Given the description of an element on the screen output the (x, y) to click on. 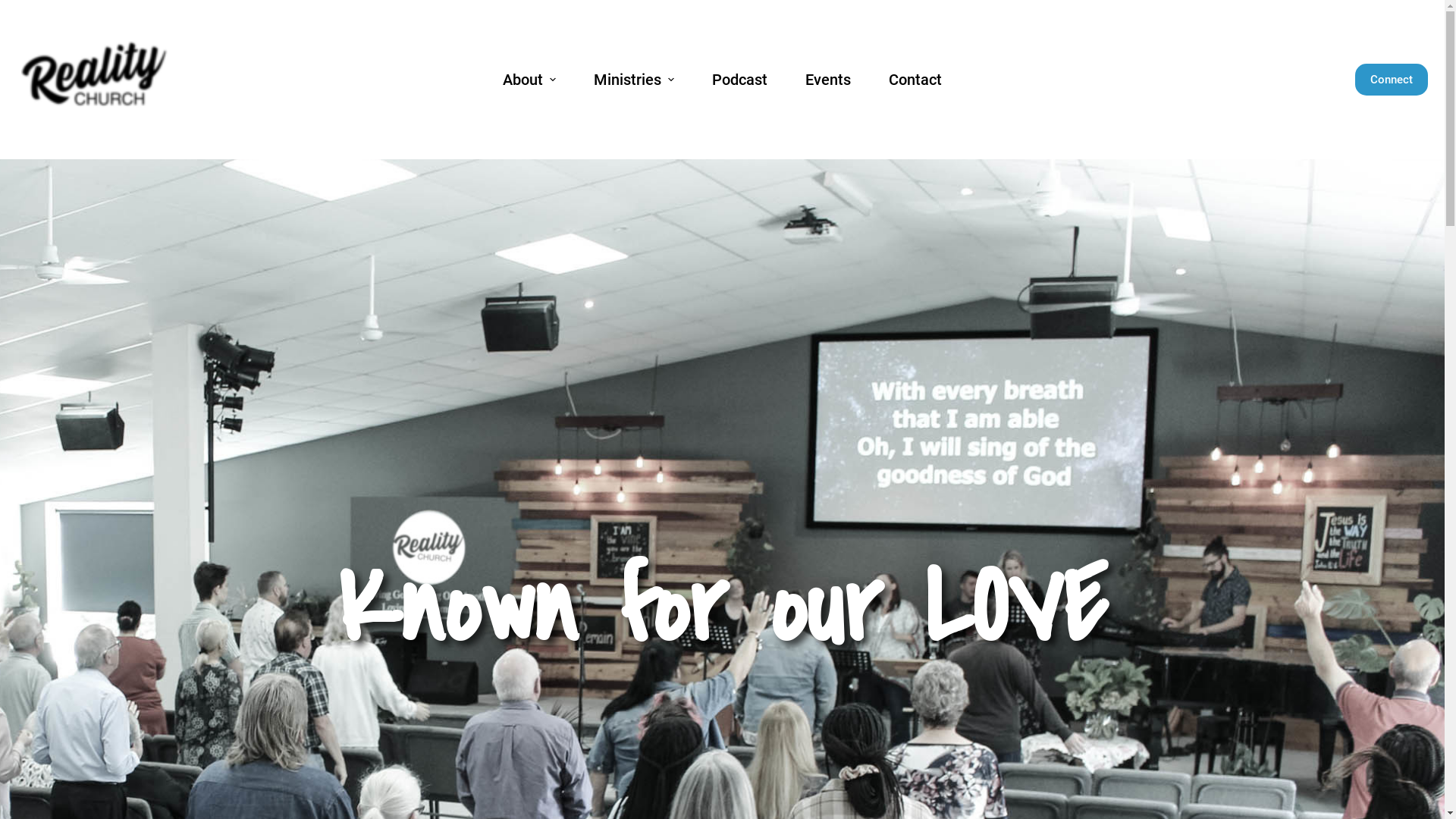
Skip to content Element type: text (15, 7)
Connect Element type: text (1390, 79)
About Element type: text (528, 79)
Podcast Element type: text (739, 79)
Contact Element type: text (914, 79)
Ministries Element type: text (633, 79)
Events Element type: text (827, 79)
